Given the description of an element on the screen output the (x, y) to click on. 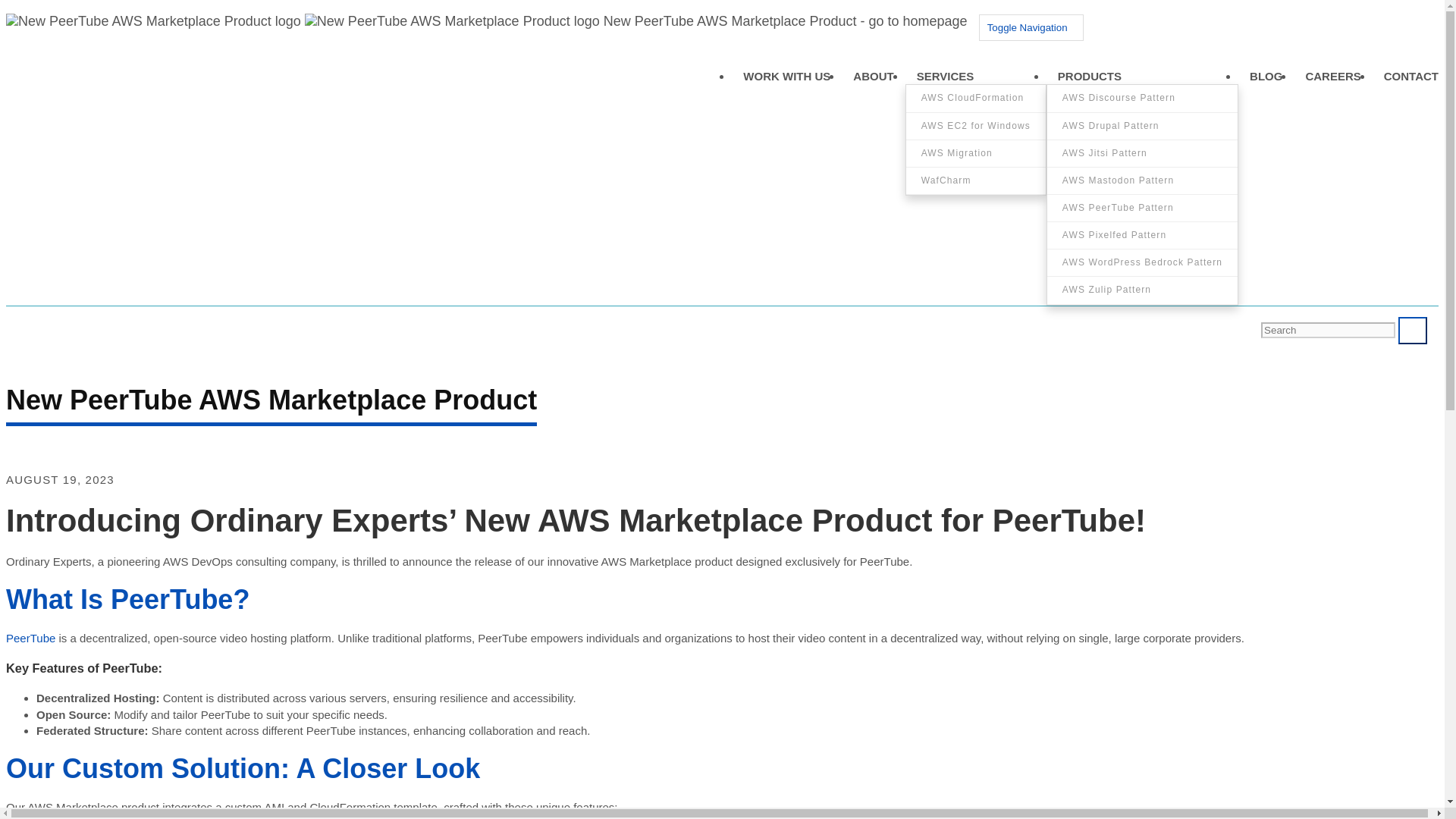
PRODUCTS (1089, 73)
BLOG (1266, 73)
AWS Jitsi Pattern (1141, 153)
AWS Zulip Pattern (1141, 290)
AWS Migration (975, 153)
Toggle Navigation (1030, 27)
AWS Mastodon Pattern (1141, 180)
PeerTube (30, 637)
AWS Discourse Pattern (1141, 97)
CAREERS (1332, 73)
